Given the description of an element on the screen output the (x, y) to click on. 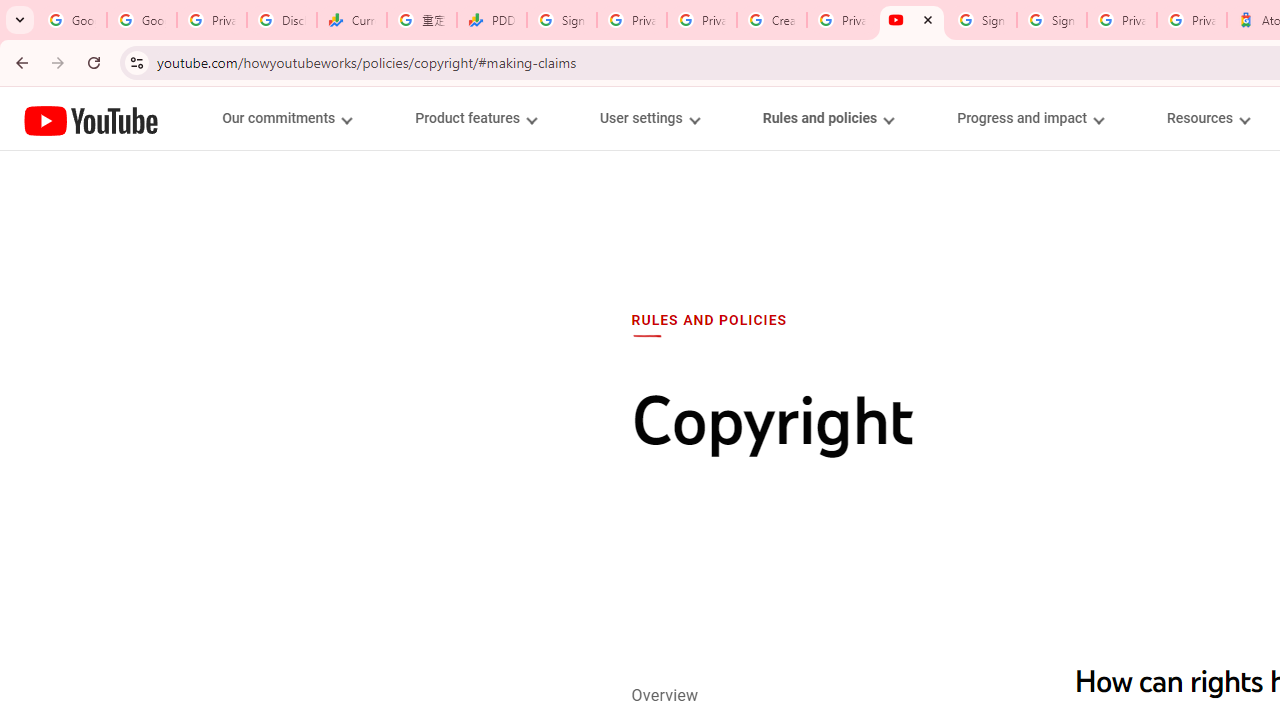
Google Workspace Admin Community (72, 20)
Privacy Checkup (701, 20)
Product features menupopup (475, 118)
YouTube Copyright Rules & Policies - How YouTube Works (911, 20)
JUMP TO CONTENT (209, 119)
Sign in - Google Accounts (561, 20)
Our commitments menupopup (286, 118)
